Given the description of an element on the screen output the (x, y) to click on. 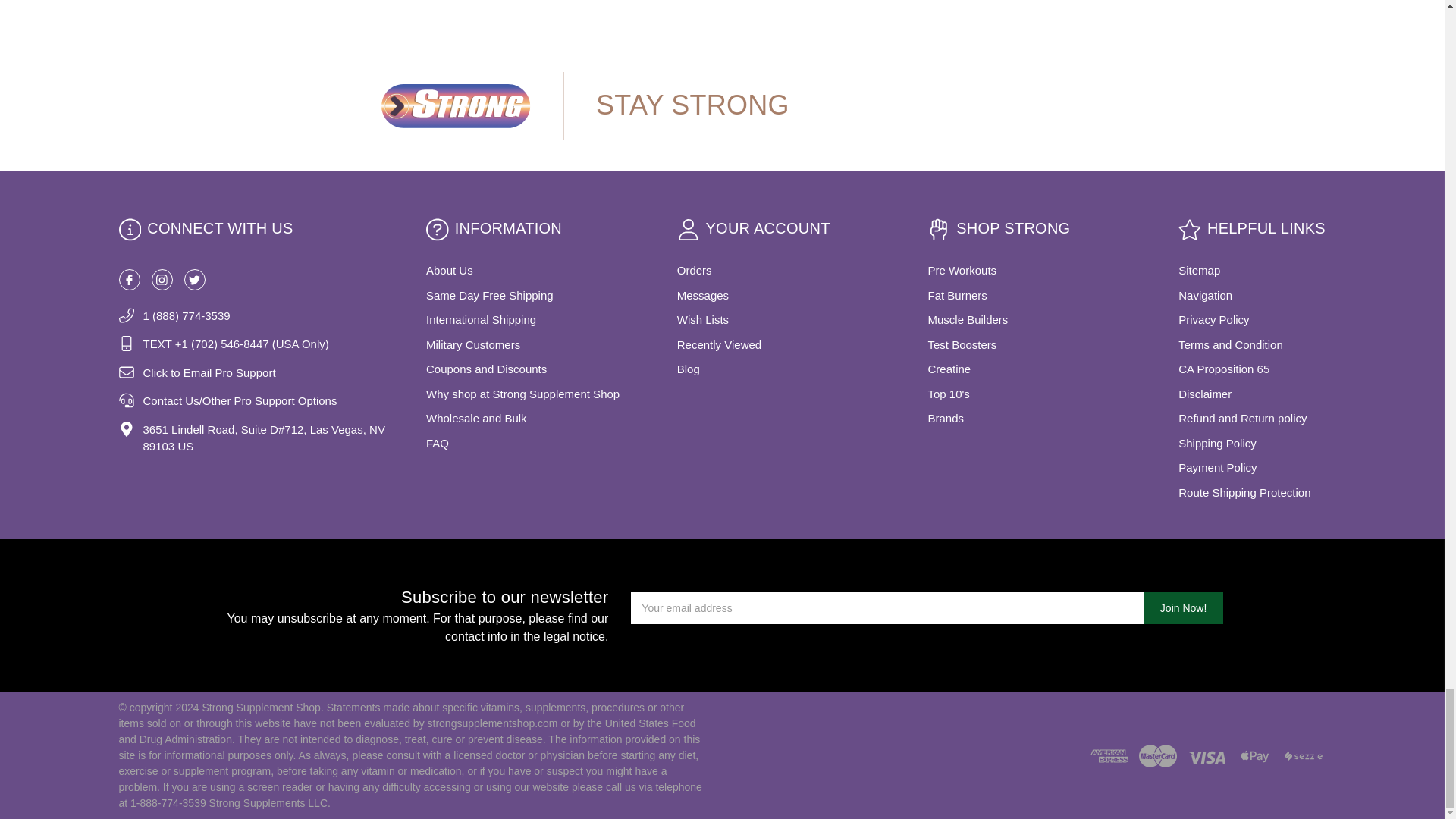
Join Now! (1182, 608)
Strong Supplement Shop (455, 105)
Facebook (128, 279)
Instagram (162, 279)
